Given the description of an element on the screen output the (x, y) to click on. 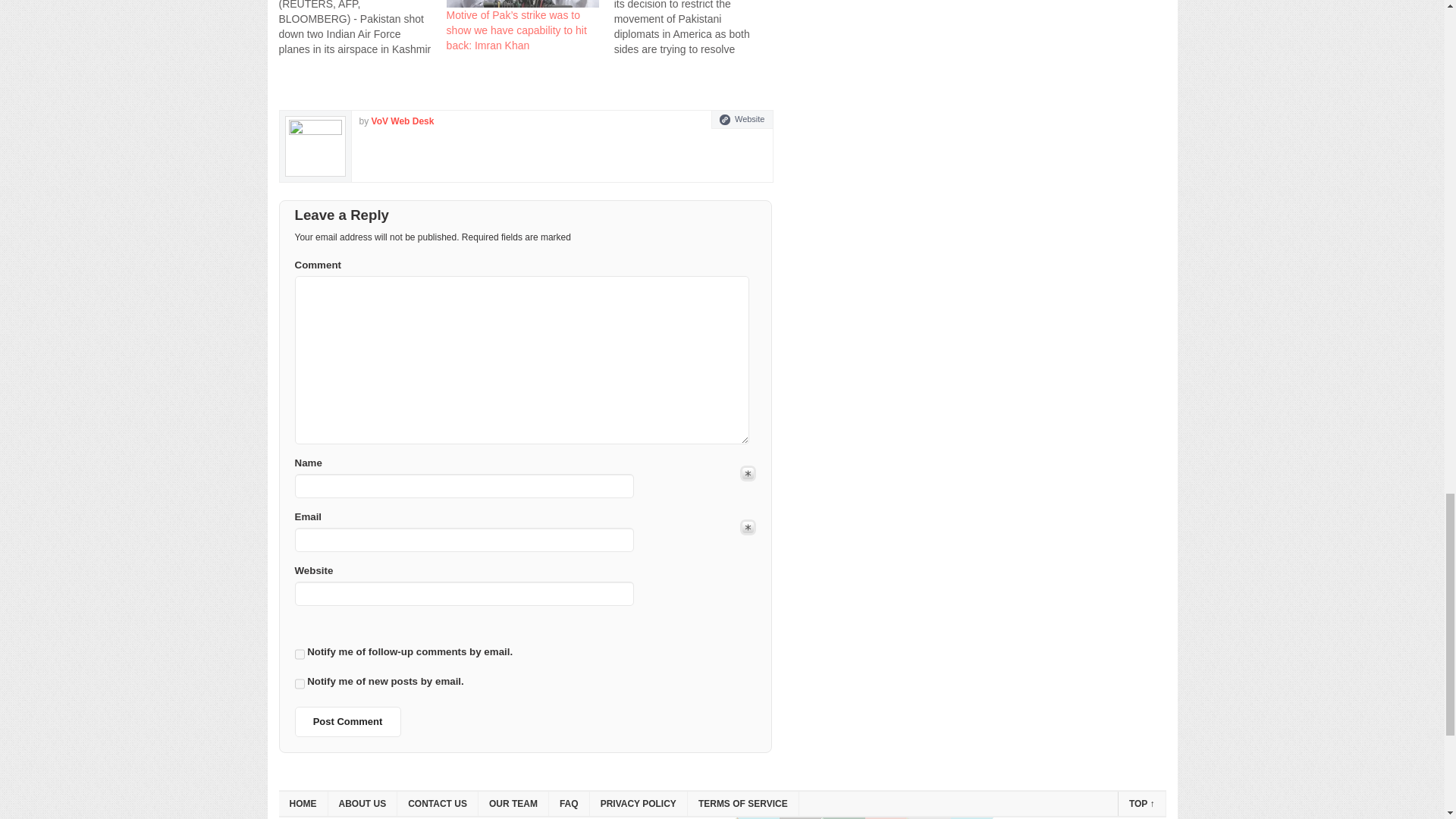
subscribe (299, 653)
Post Comment (347, 721)
subscribe (299, 683)
